Given the description of an element on the screen output the (x, y) to click on. 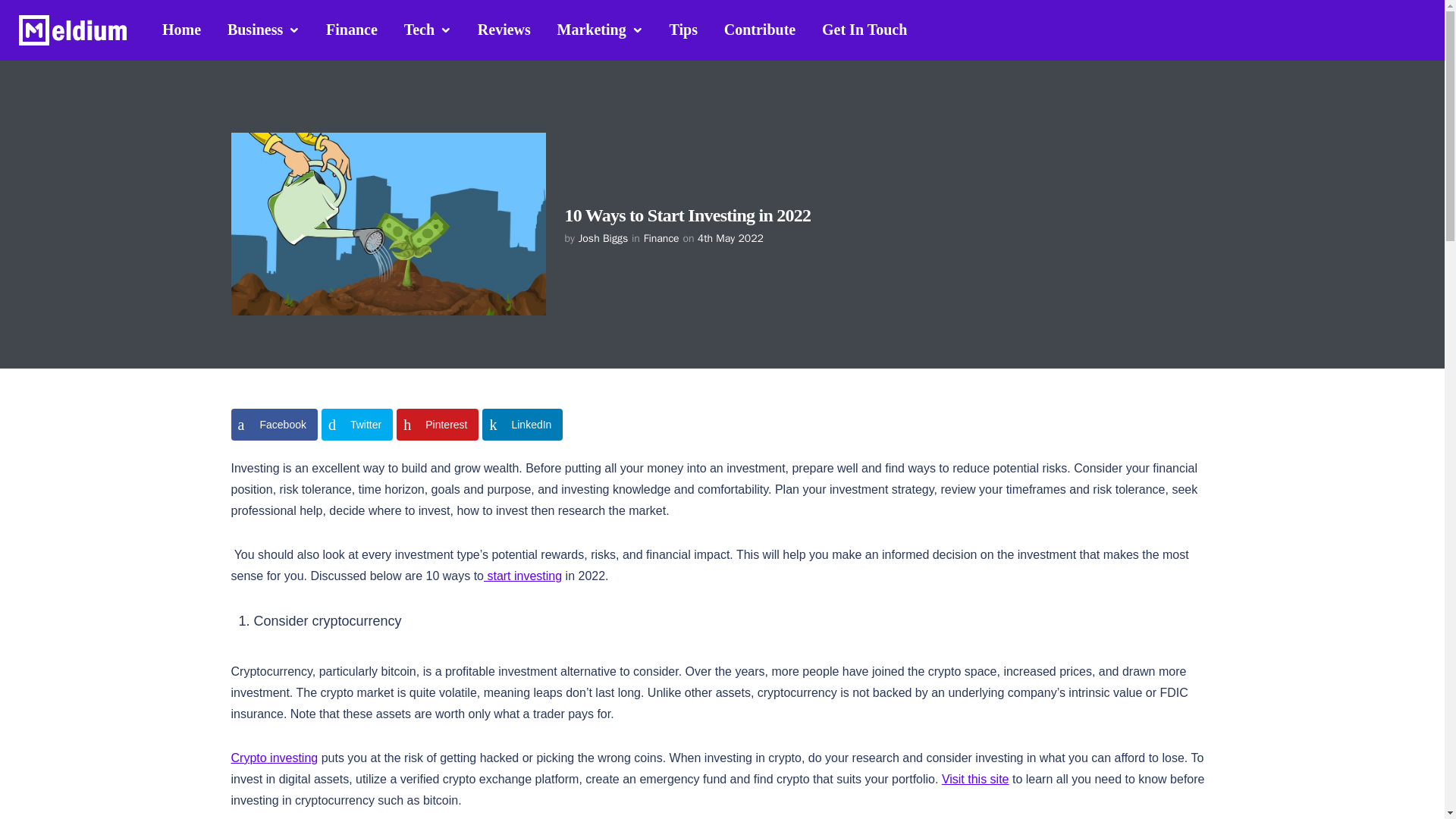
Visit this site (975, 779)
Finance (661, 237)
start investing (522, 575)
Share on Twitter (357, 424)
Contribute (759, 29)
Crypto investing (273, 757)
Facebook (273, 424)
Share on Facebook (273, 424)
Josh Biggs (602, 237)
Pinterest (437, 424)
Tech (428, 29)
Get In Touch (864, 29)
Finance (351, 29)
Marketing (599, 29)
LinkedIn (521, 424)
